Given the description of an element on the screen output the (x, y) to click on. 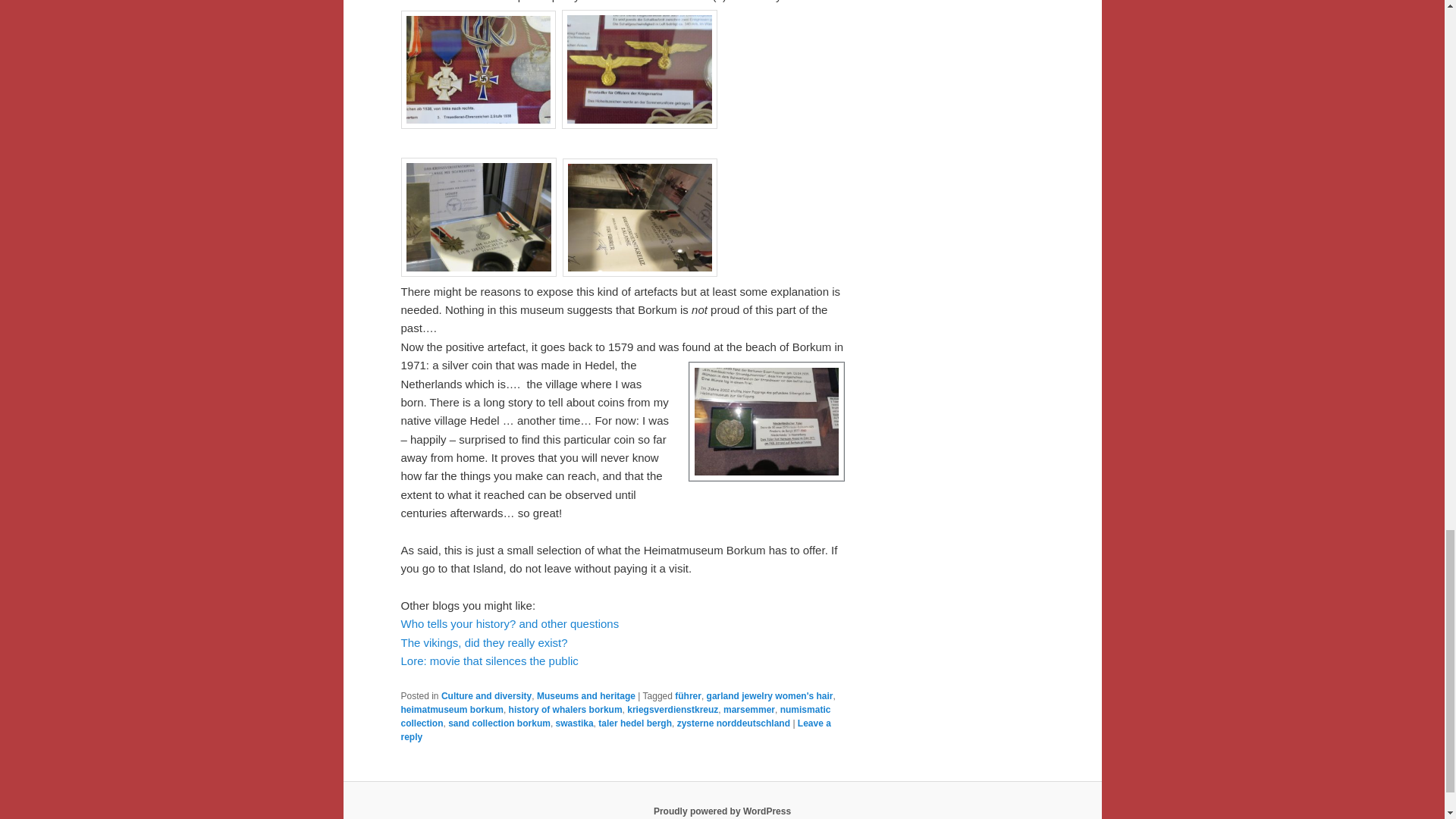
Lore: movie that silences the public (489, 660)
Who tells your history? and other questions (509, 623)
history of whalers borkum (565, 709)
Museums and heritage (585, 696)
garland jewelry women's hair (769, 696)
taler hedel bergh (634, 723)
kriegsverdienstkreuz (672, 709)
swastika (575, 723)
numismatic collection (614, 716)
marsemmer (748, 709)
